Given the description of an element on the screen output the (x, y) to click on. 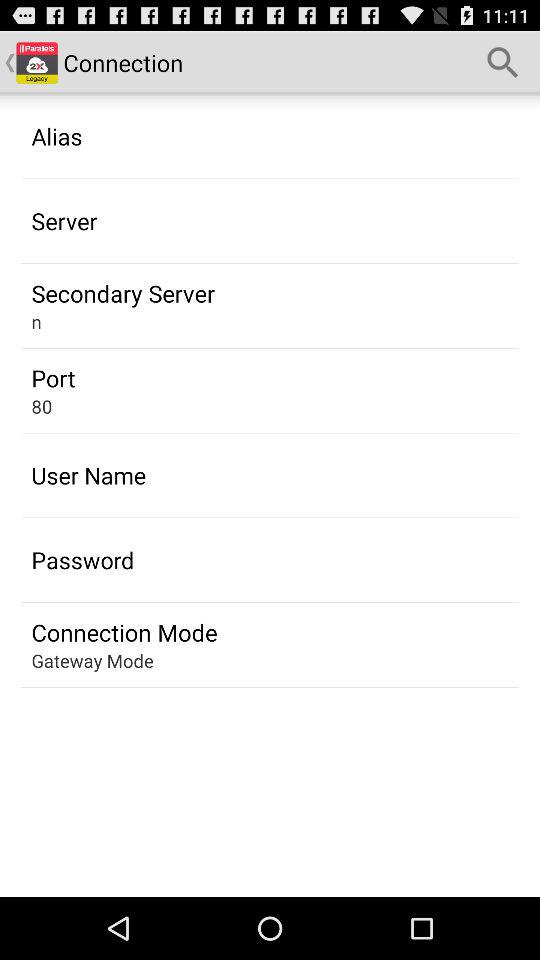
click gateway mode at the bottom left corner (92, 660)
